Given the description of an element on the screen output the (x, y) to click on. 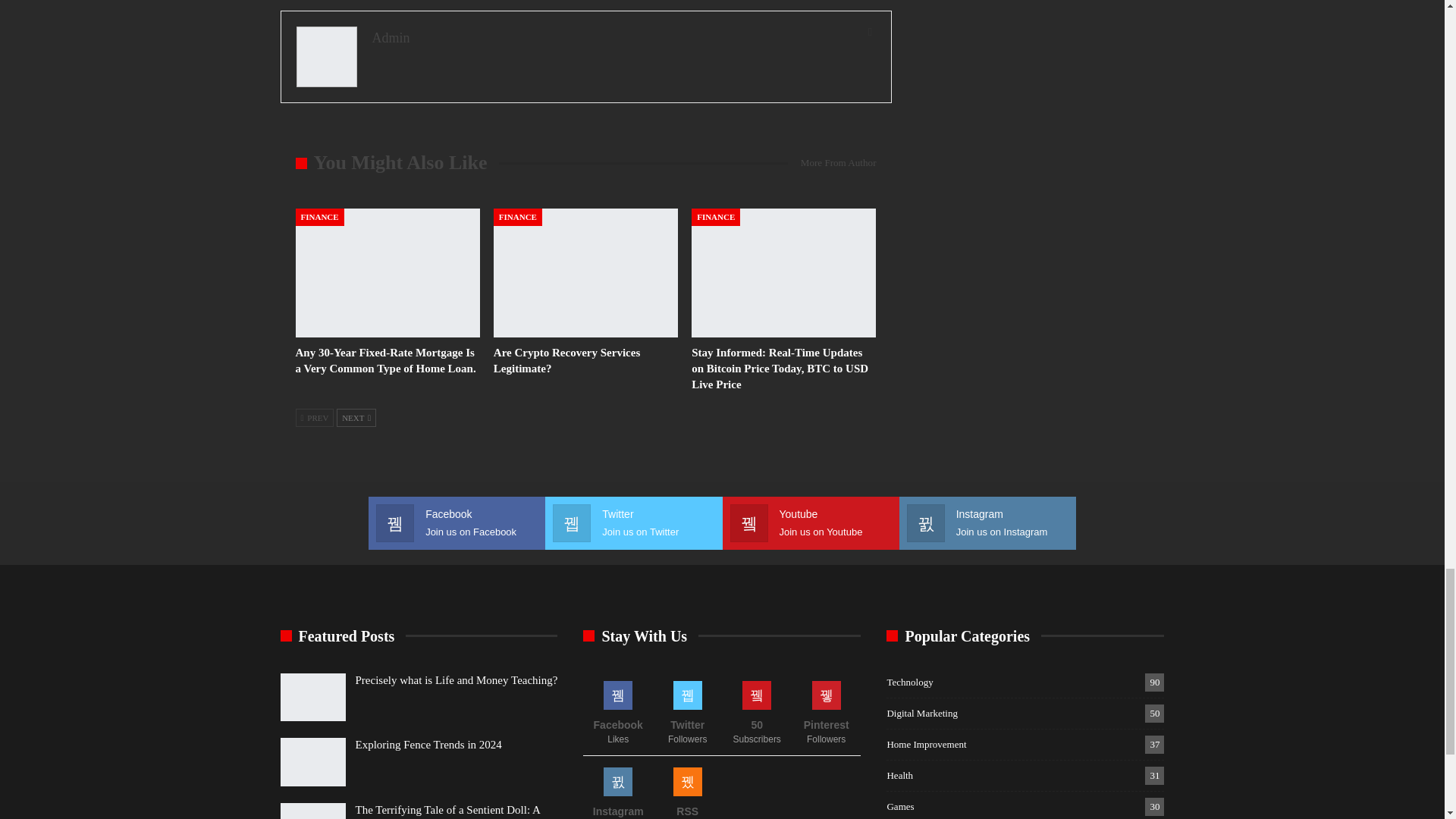
Previous (314, 417)
Next (355, 417)
Are Crypto Recovery Services Legitimate? (566, 360)
Are Crypto Recovery Services Legitimate? (585, 272)
